Given the description of an element on the screen output the (x, y) to click on. 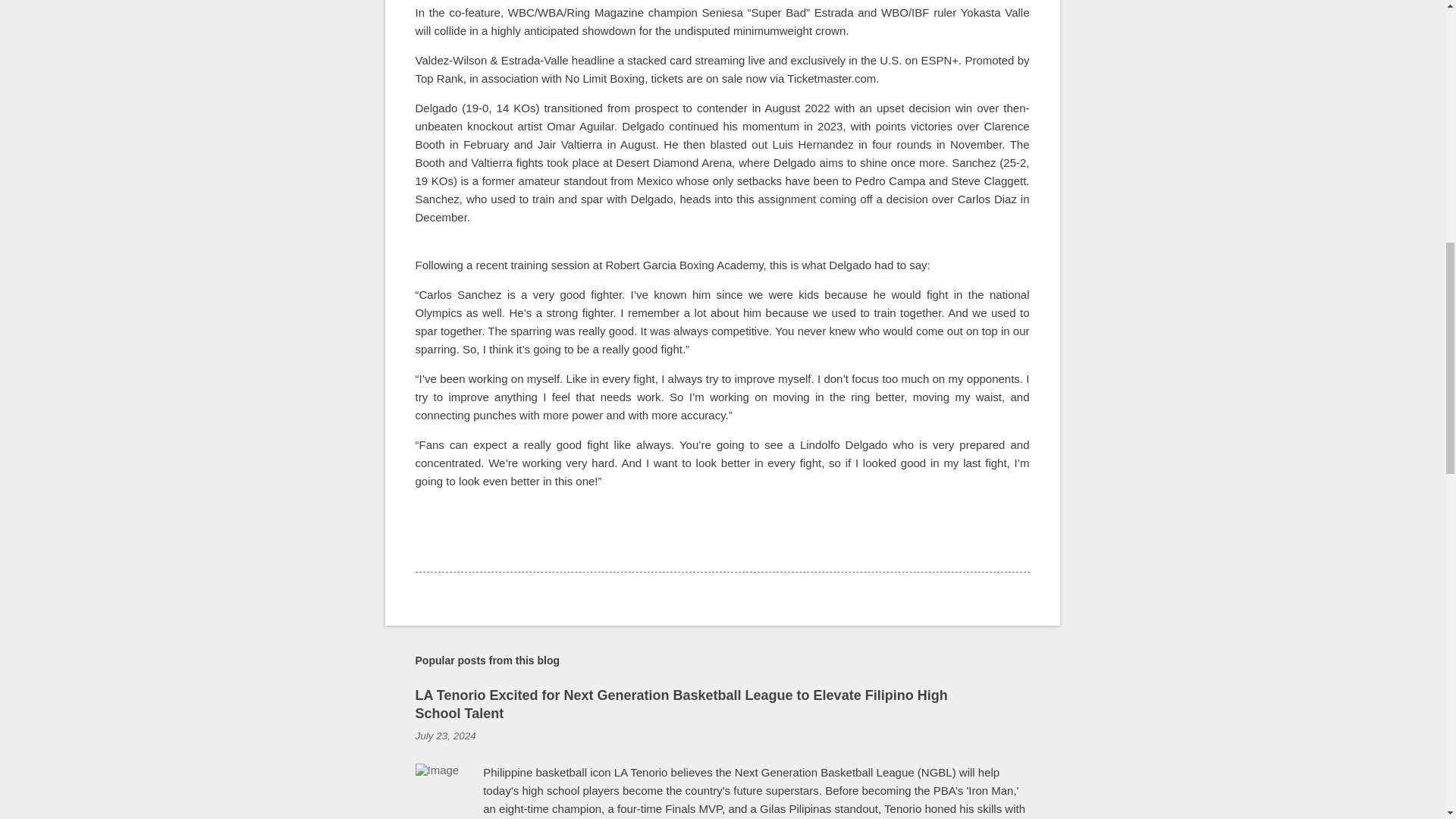
permanent link (445, 736)
July 23, 2024 (445, 736)
